Given the description of an element on the screen output the (x, y) to click on. 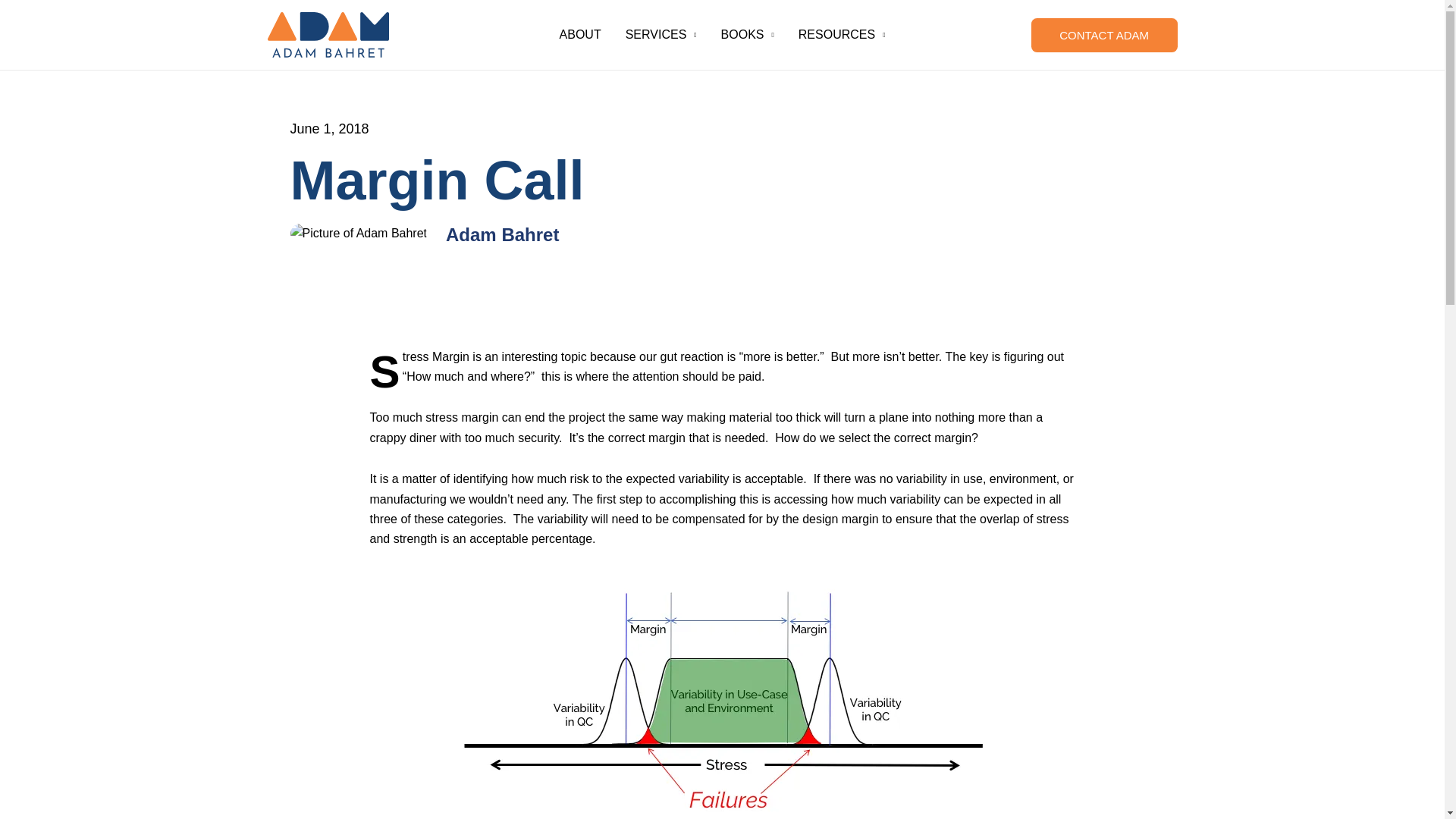
SERVICES (660, 34)
ABOUT (579, 34)
BOOKS (747, 34)
CONTACT ADAM (1103, 35)
June 1, 2018 (328, 128)
RESOURCES (842, 34)
